Given the description of an element on the screen output the (x, y) to click on. 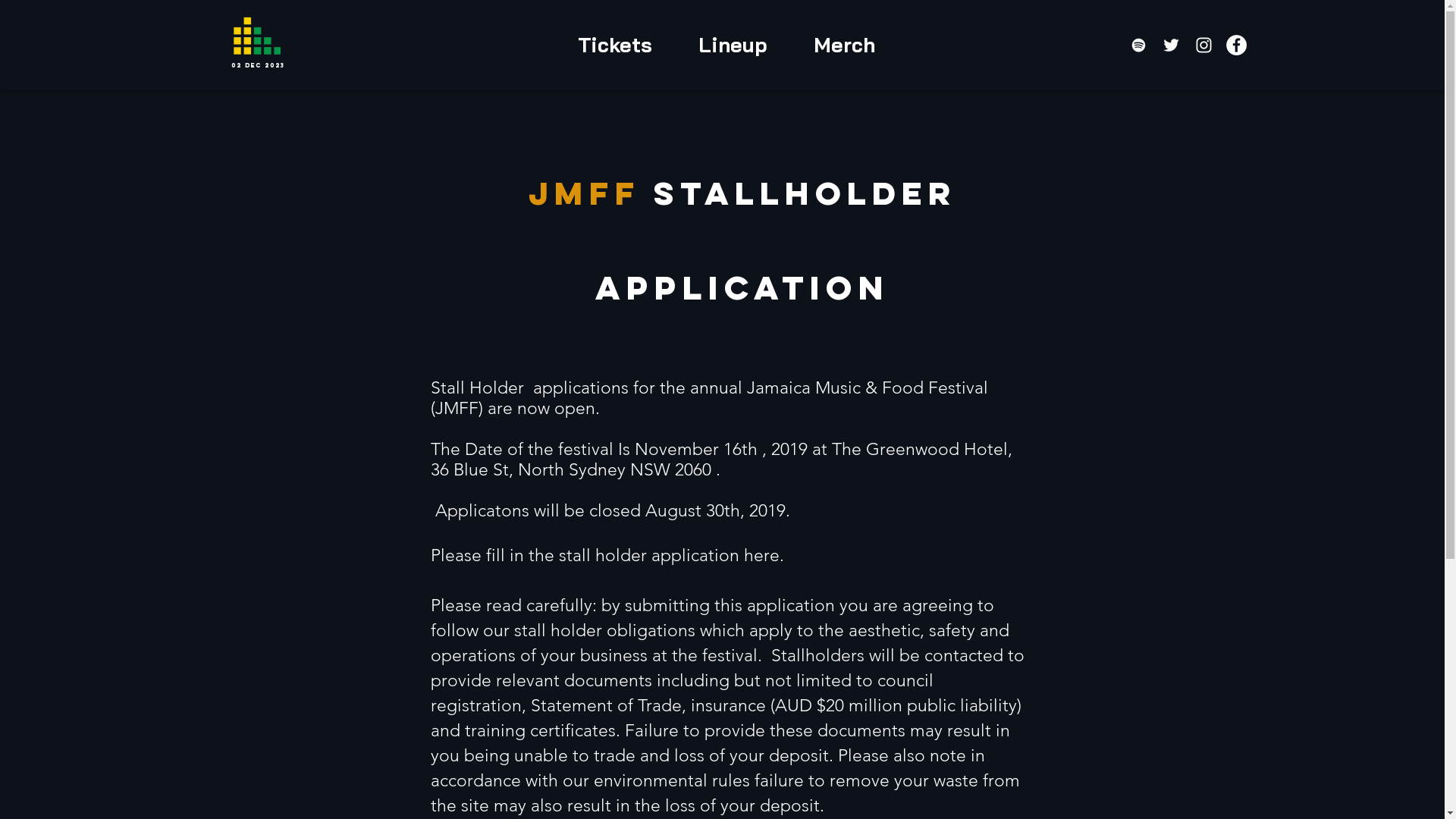
Merch Element type: text (843, 44)
Tickets Element type: text (615, 44)
